Given the description of an element on the screen output the (x, y) to click on. 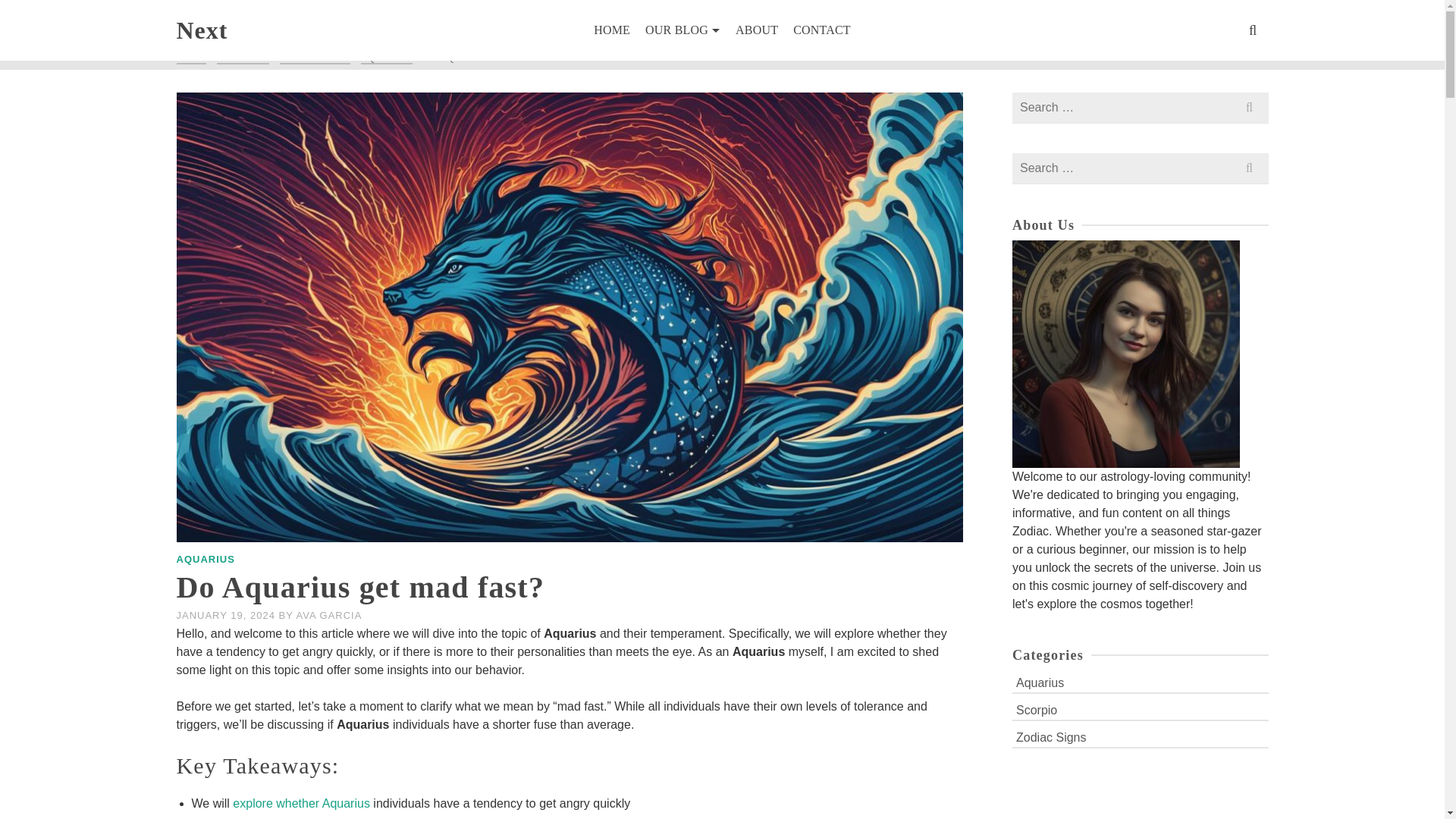
CONTACT (822, 29)
OUR BLOG (682, 29)
HOME (611, 29)
explore whether Aquarius (300, 802)
ABOUT (757, 29)
AQUARIUS (386, 57)
AQUARIUS (205, 559)
AVA GARCIA (329, 614)
OUR BLOG (242, 57)
HOME (190, 57)
ZODIAC SIGNS (314, 57)
